Given the description of an element on the screen output the (x, y) to click on. 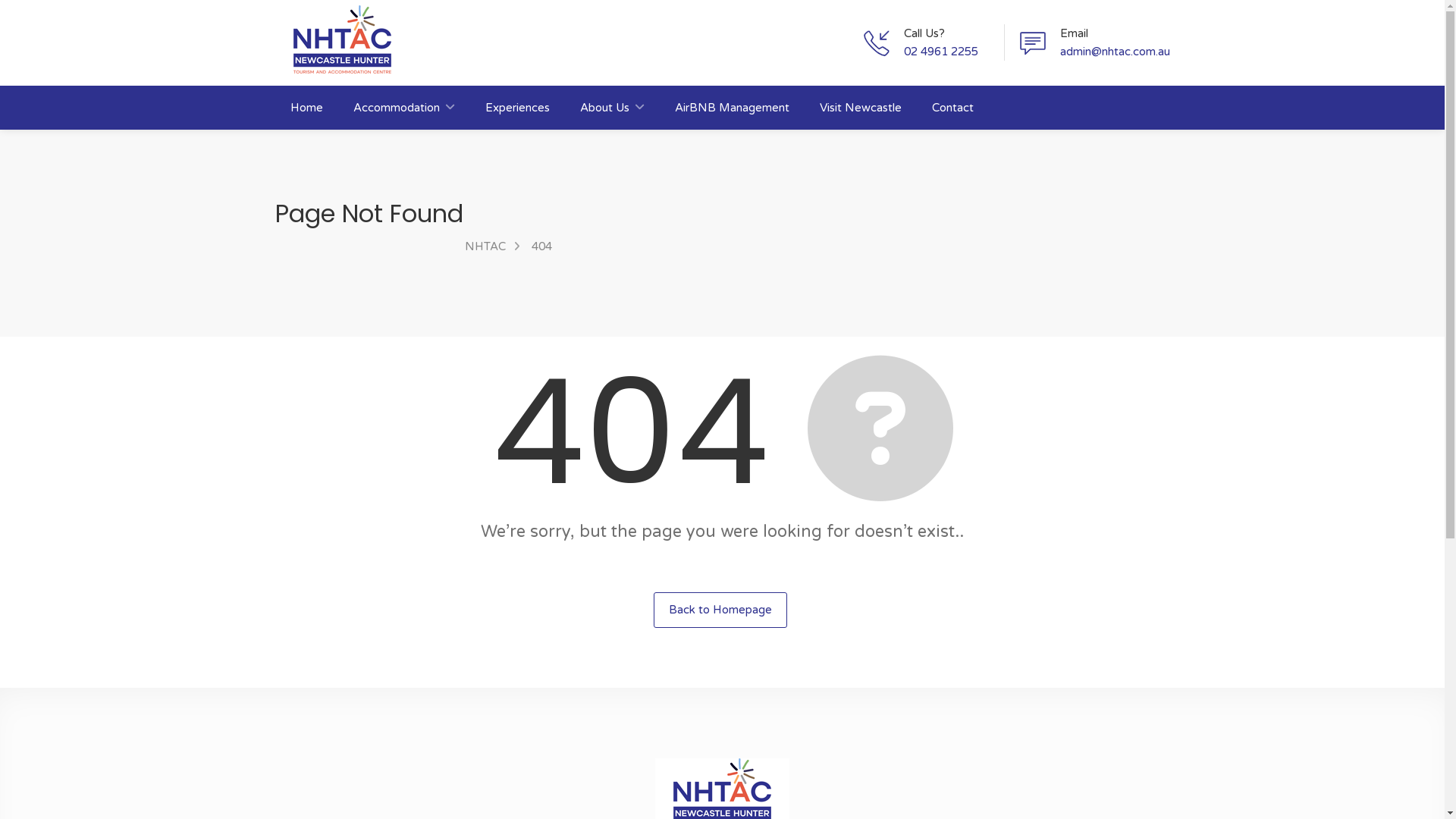
AirBNB Management Element type: text (731, 107)
02 4961 2255 Element type: text (940, 51)
About Us Element type: text (611, 107)
Contact Element type: text (952, 107)
admin@nhtac.com.au Element type: text (1115, 51)
Home Element type: text (305, 107)
Back to Homepage Element type: text (720, 609)
NHTAC Element type: text (484, 245)
Visit Newcastle Element type: text (859, 107)
Accommodation Element type: text (404, 107)
NHTAC Element type: hover (341, 38)
Experiences Element type: text (517, 107)
